Given the description of an element on the screen output the (x, y) to click on. 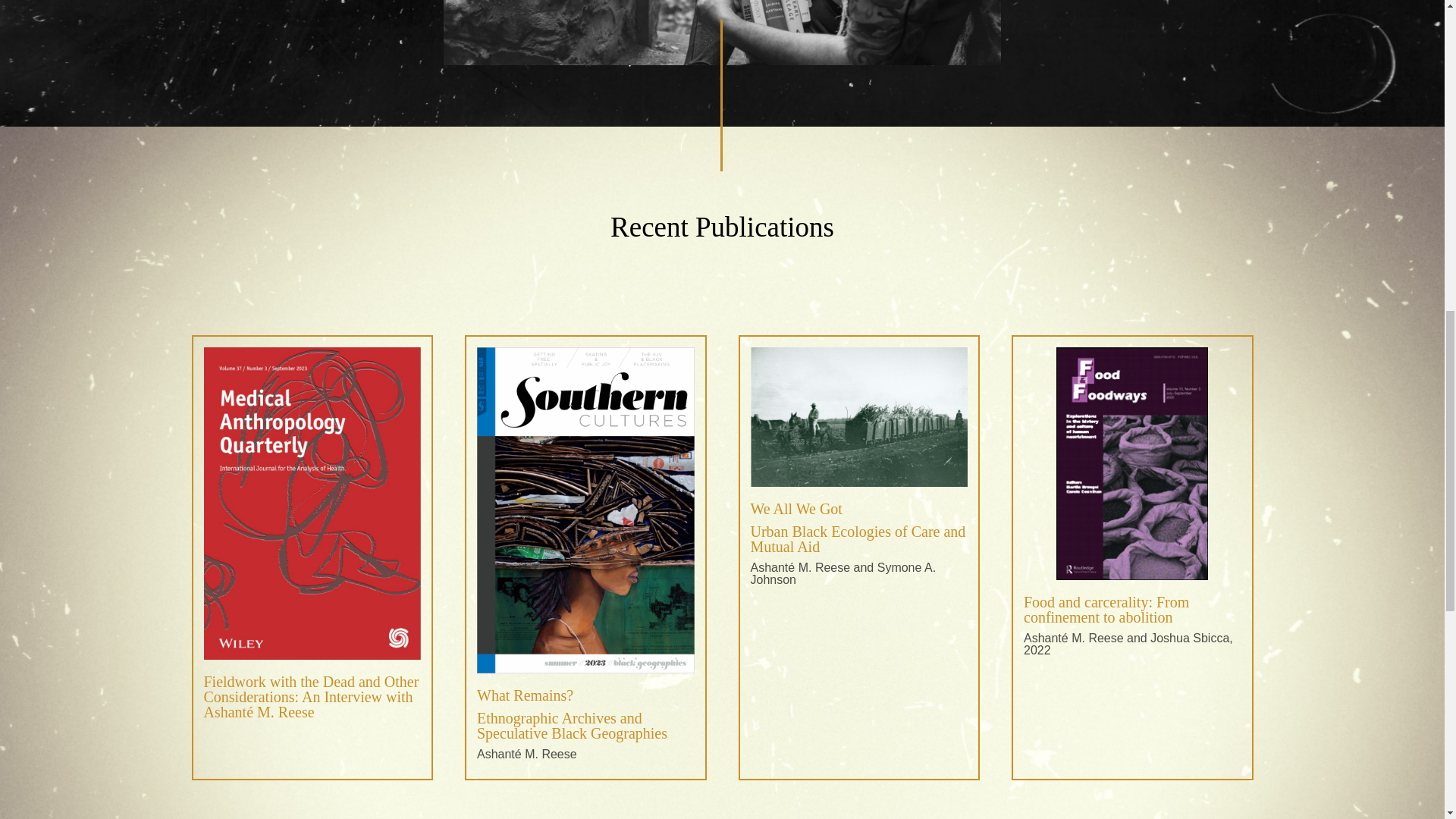
We All We Got (797, 508)
Screen Shot 2021-10-13 at 3.21 2-min (859, 416)
Urban Black Ecologies of Care and Mutual Aid (858, 539)
